Given the description of an element on the screen output the (x, y) to click on. 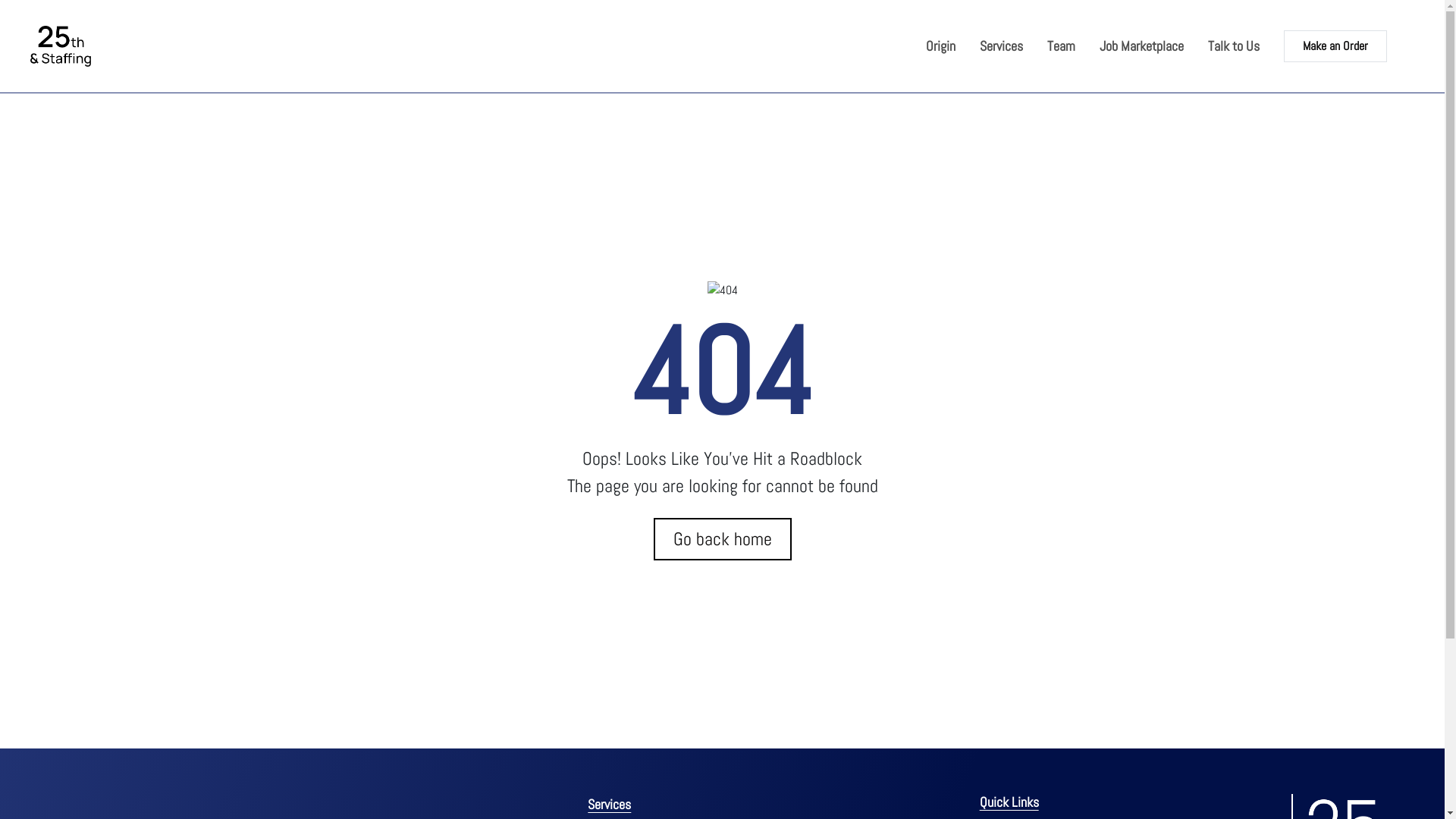
Make an Order Element type: text (1334, 46)
Go back home Element type: text (722, 538)
Services Element type: text (608, 803)
Talk to Us Element type: text (1233, 45)
Go back home Element type: text (722, 538)
Origin Element type: text (940, 45)
Team Element type: text (1061, 45)
Services Element type: text (1000, 45)
Make an Order Element type: text (1322, 46)
Job Marketplace Element type: text (1141, 45)
